Given the description of an element on the screen output the (x, y) to click on. 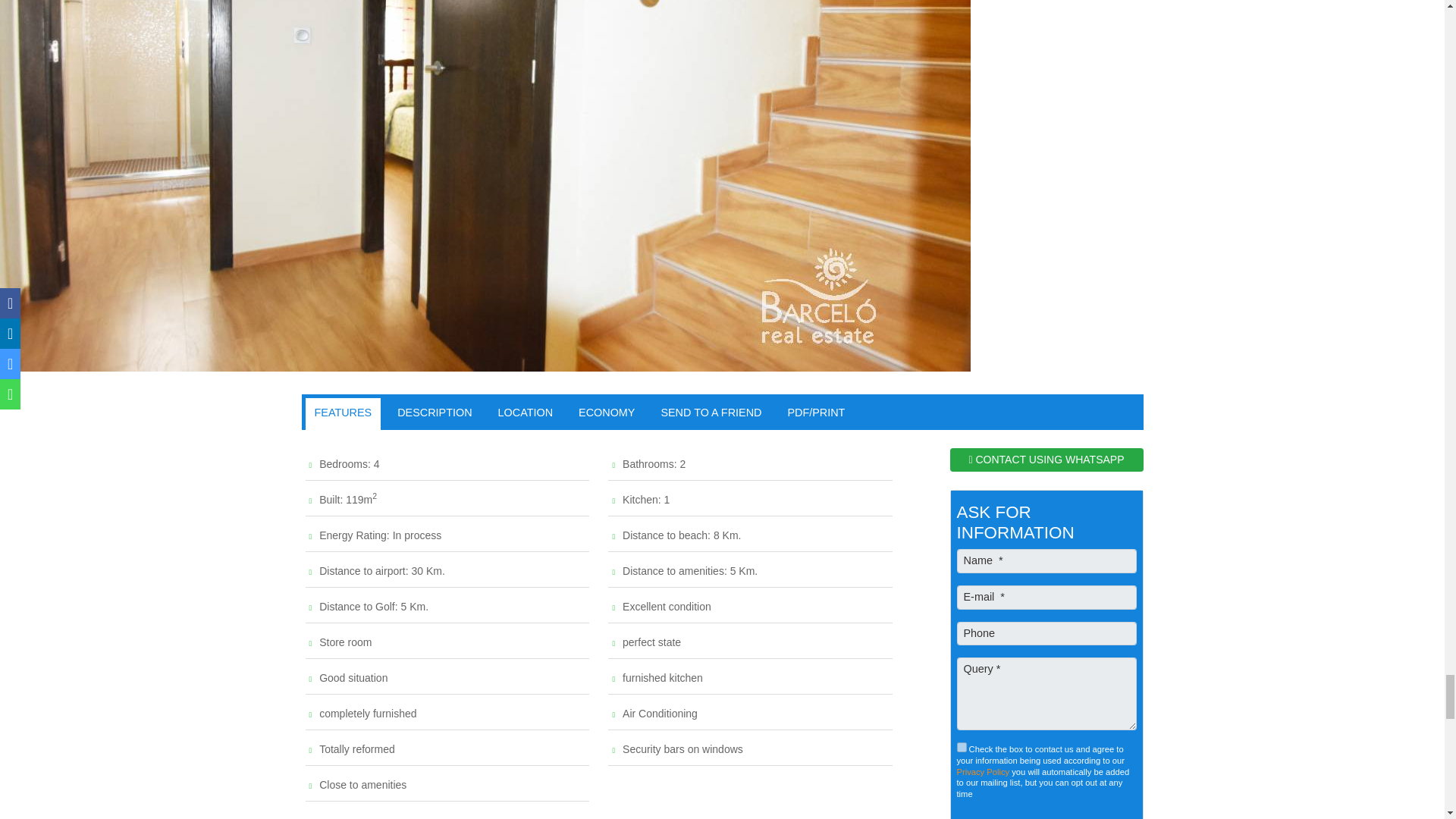
on (961, 747)
